Given the description of an element on the screen output the (x, y) to click on. 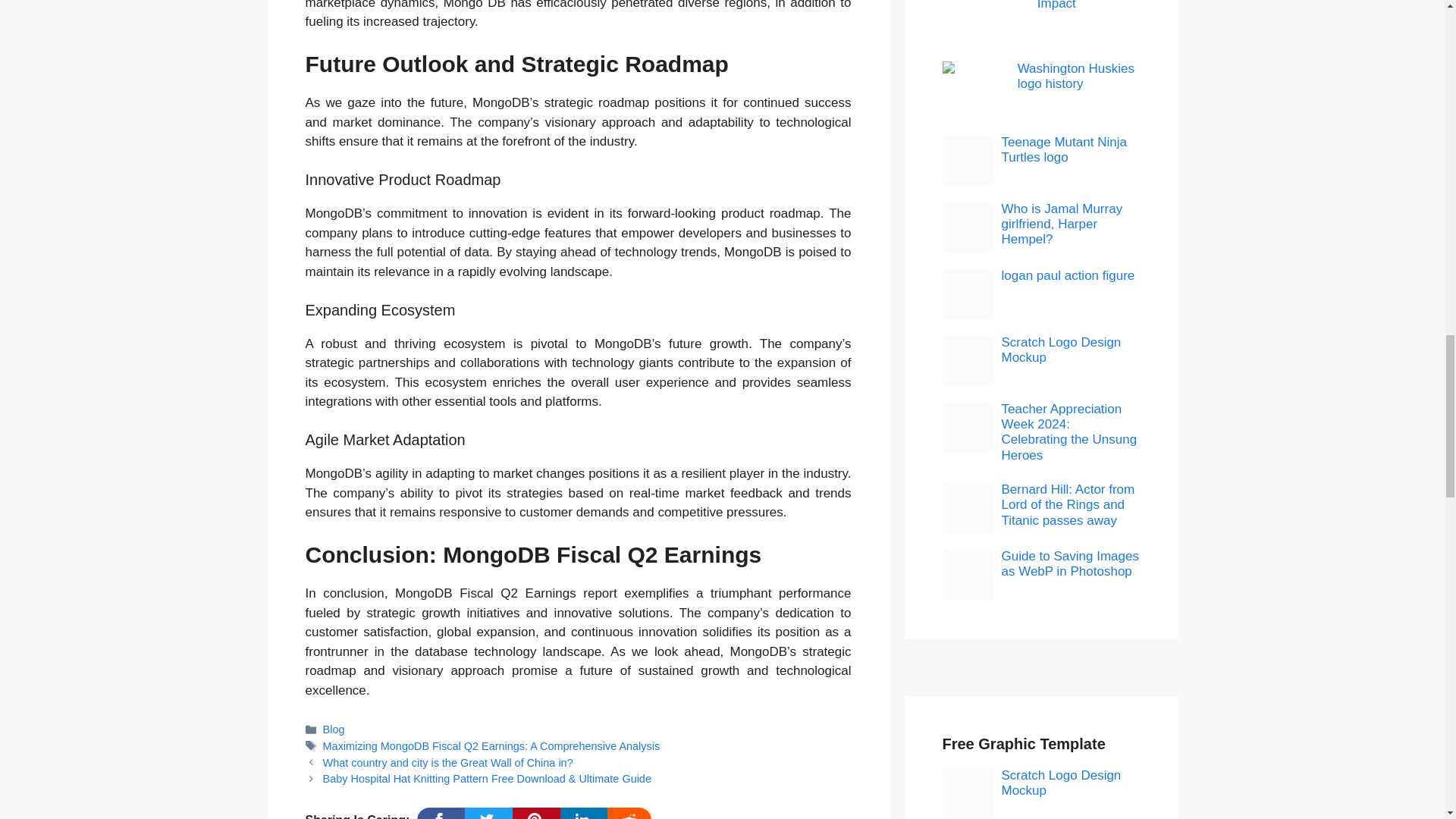
Blog (334, 729)
What country and city is the Great Wall of China in? (448, 762)
